Given the description of an element on the screen output the (x, y) to click on. 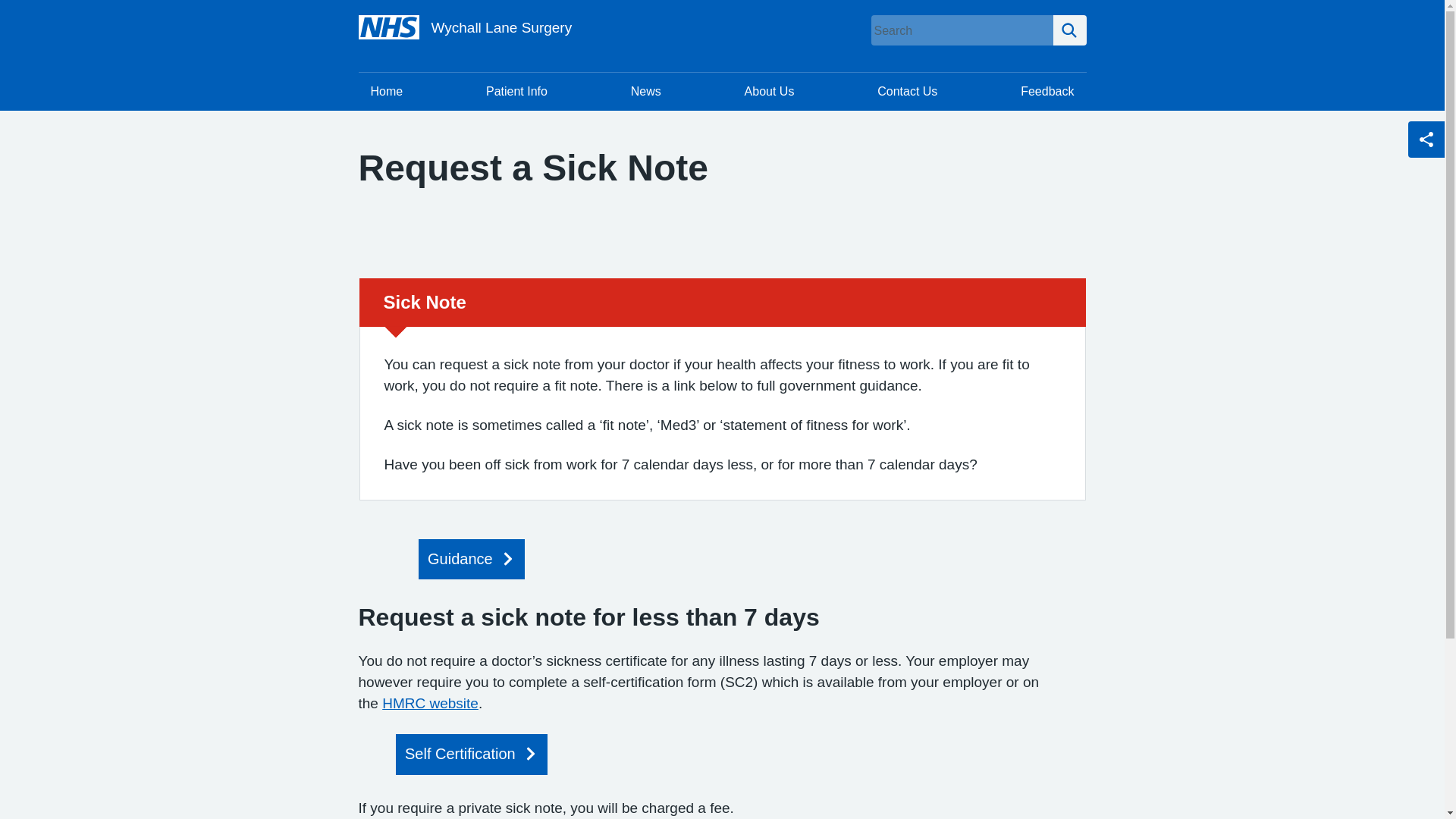
Feedback (1047, 91)
HMRC website (430, 703)
Home (386, 91)
News (645, 91)
Patient Info (516, 91)
Guidance (471, 558)
NHS Logo (388, 27)
About Us (769, 91)
Contact Us (906, 91)
Search (1069, 30)
Self Certification (471, 753)
